Given the description of an element on the screen output the (x, y) to click on. 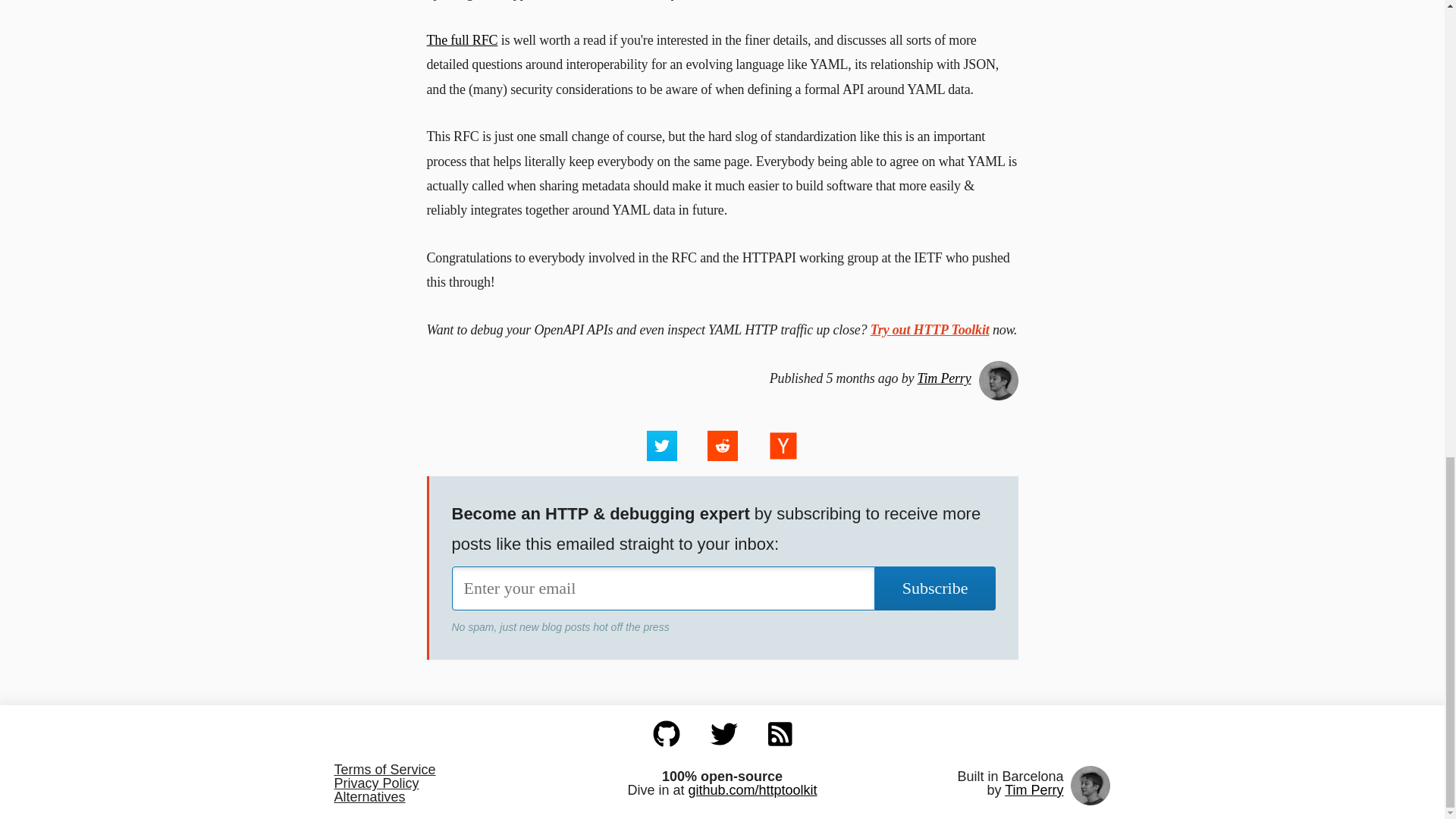
Share this post on Reddit (721, 445)
Feb 20th 2024 (721, 378)
Privacy Policy (462, 783)
Try out HTTP Toolkit (930, 329)
Share this post on Hacker News (782, 445)
Tim Perry (944, 378)
Alternatives (462, 796)
Terms of Service (462, 769)
Tim Perry (1033, 789)
Subscribe (935, 588)
